Given the description of an element on the screen output the (x, y) to click on. 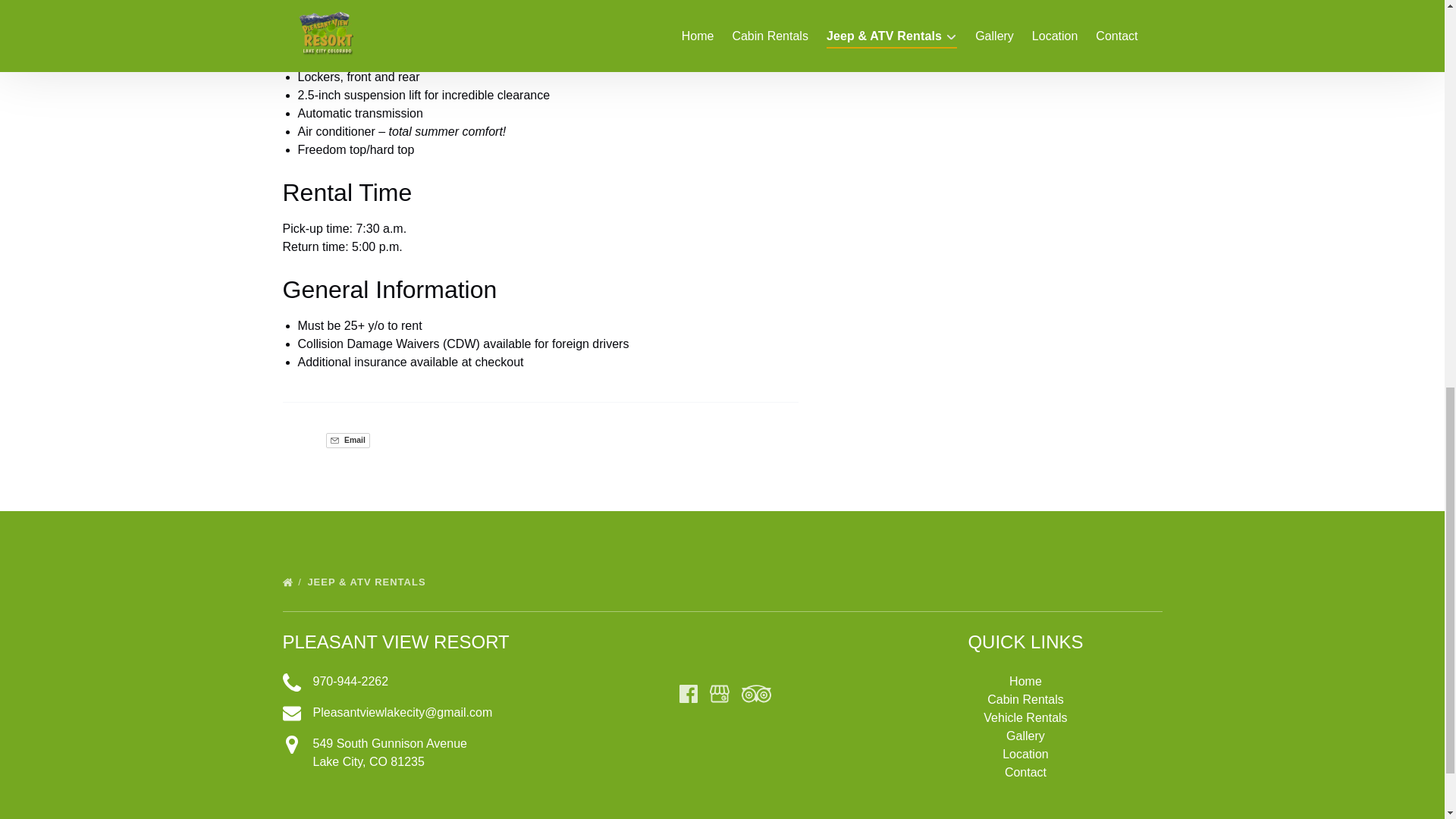
Visit our Google My Business Profile (719, 693)
Visit our TripAdvisor (756, 693)
Map Marker (290, 744)
Visit our Facebook (688, 693)
Email this page to a friend. (347, 440)
Email (418, 681)
Location (347, 440)
Gallery (1025, 753)
Phone (1025, 735)
